Given the description of an element on the screen output the (x, y) to click on. 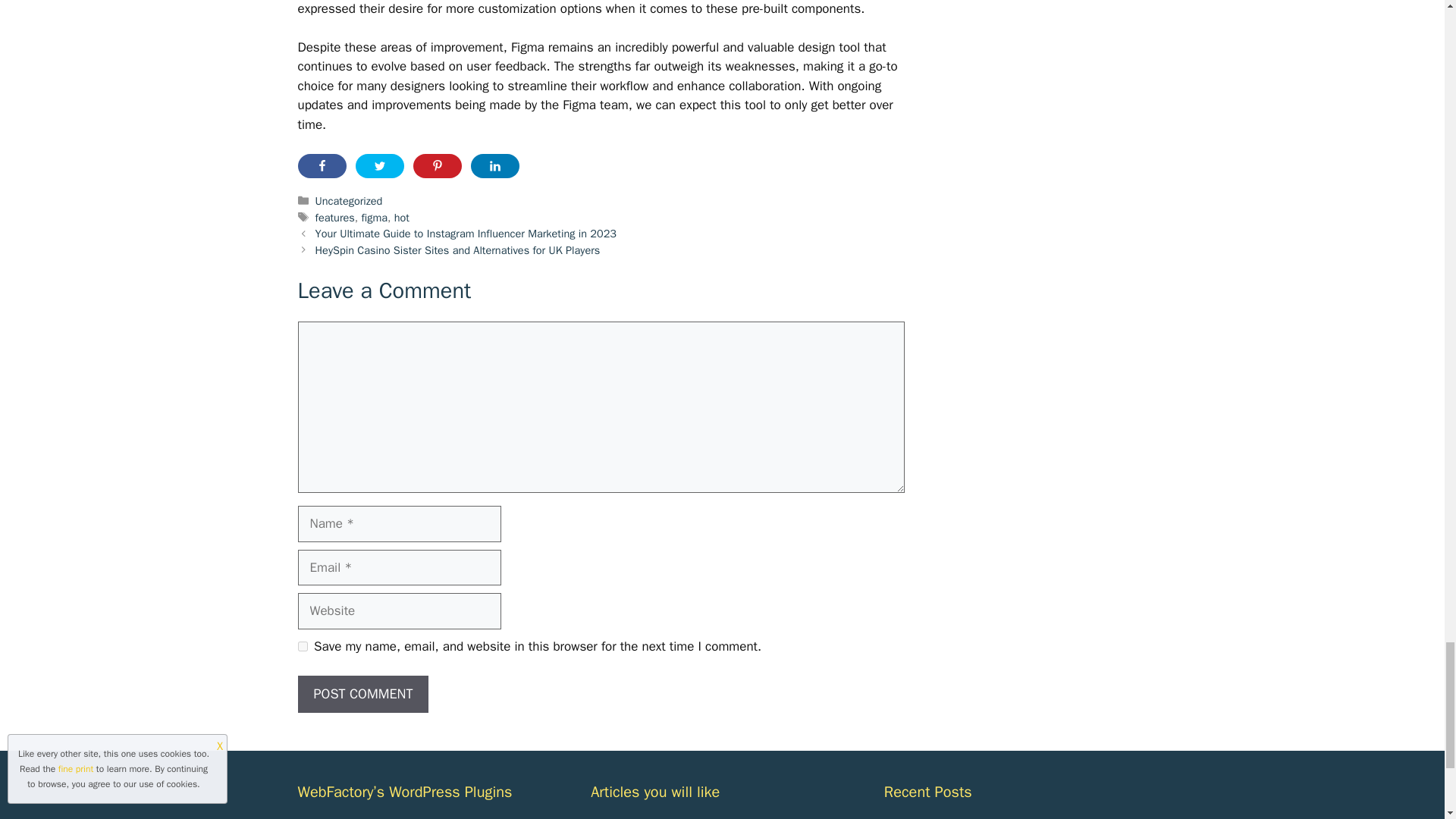
HeySpin Casino Sister Sites and Alternatives for UK Players (457, 250)
Share on Pinterest (436, 165)
Post Comment (362, 693)
figma (374, 217)
Uncategorized (348, 201)
Share on Twitter (379, 165)
Post Comment (362, 693)
Share on LinkedIn (494, 165)
Share on Facebook (321, 165)
